Given the description of an element on the screen output the (x, y) to click on. 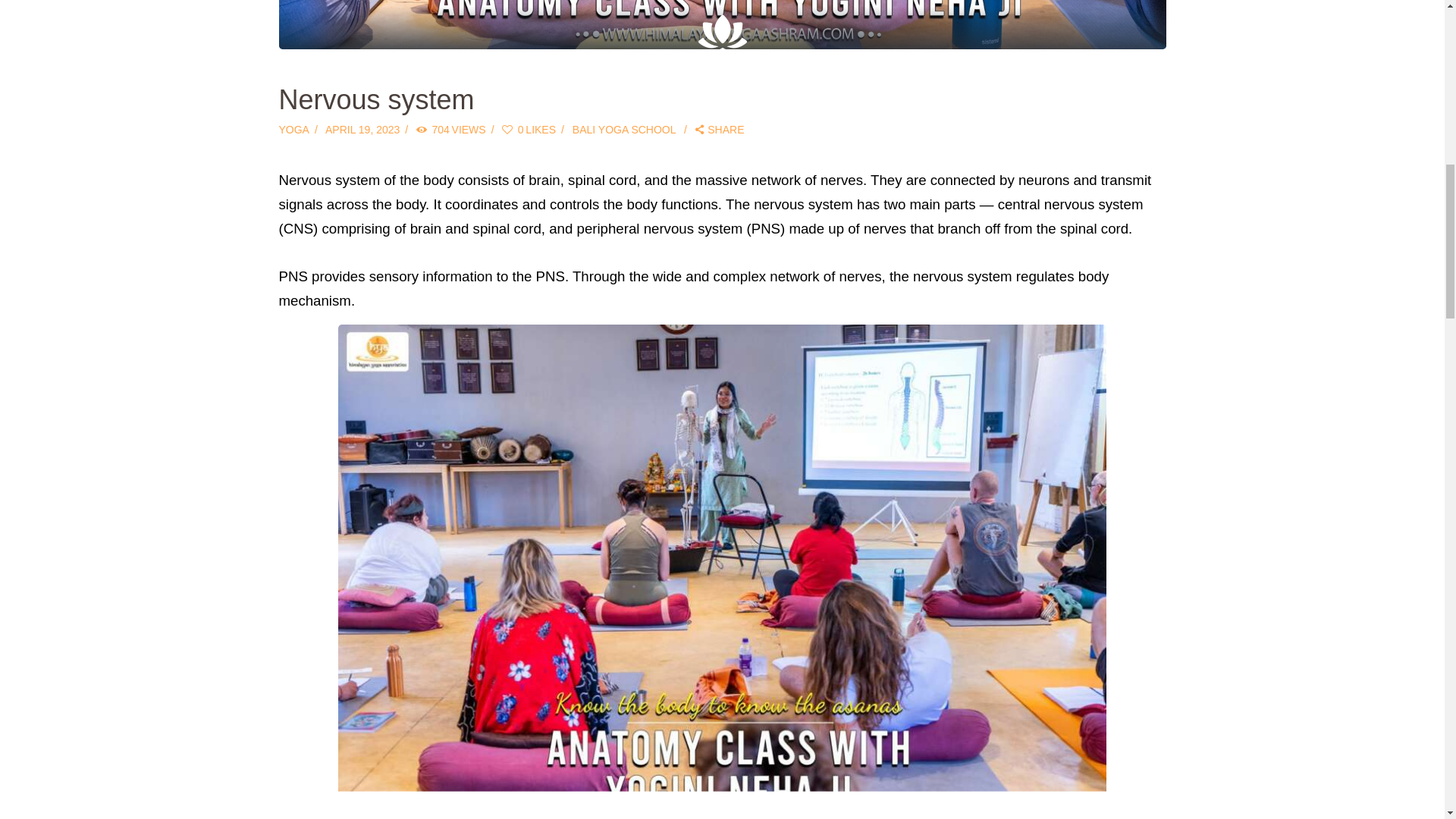
Like (535, 129)
